Given the description of an element on the screen output the (x, y) to click on. 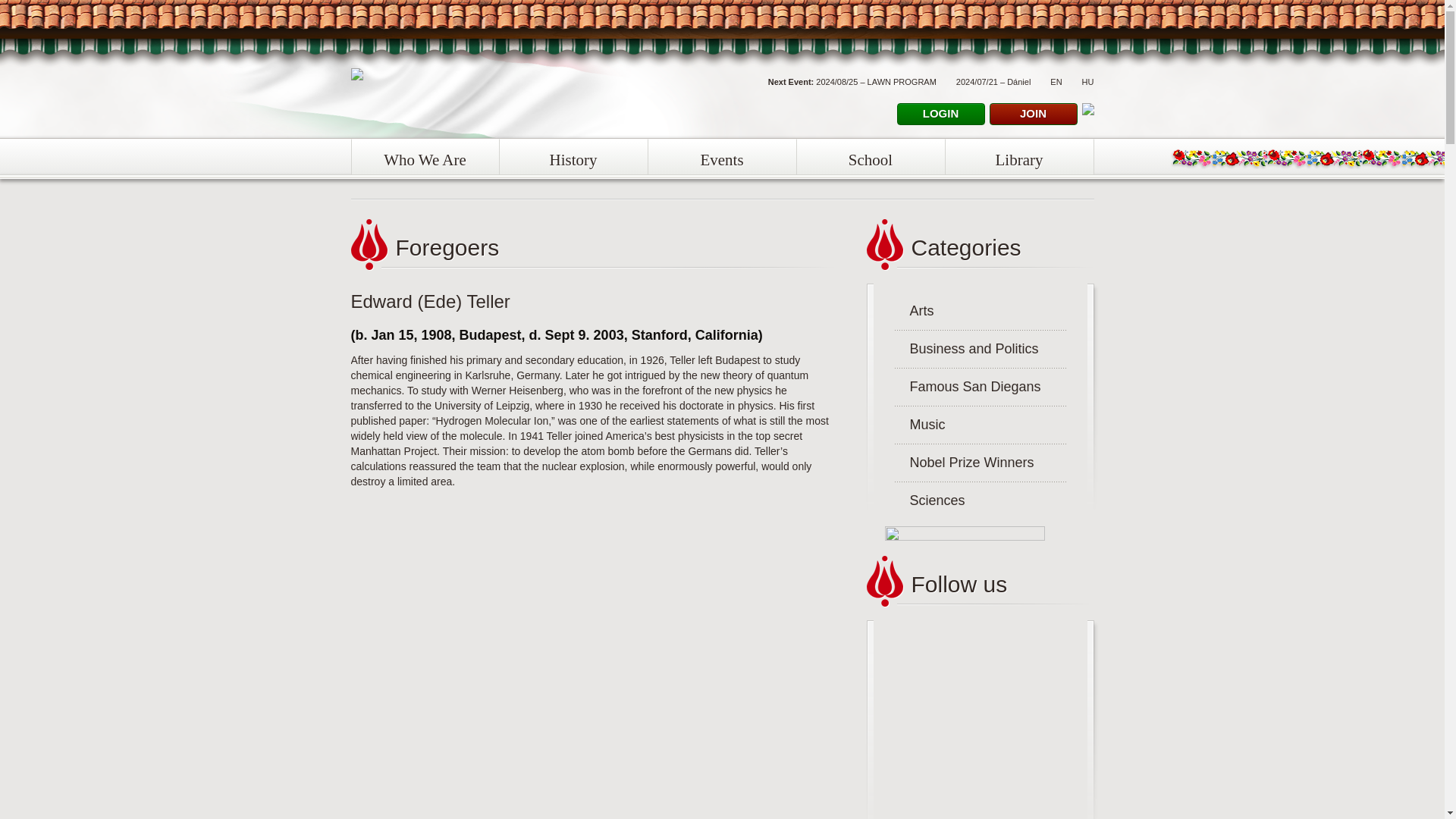
Business and Politics (967, 348)
History (572, 156)
Music (919, 424)
School (869, 156)
JOIN (1032, 114)
LOGIN (940, 114)
Famous San Diegans (968, 386)
Sciences (930, 500)
Library (1018, 156)
Arts (914, 310)
Who We Are (425, 156)
HU (1087, 81)
Events (720, 156)
EN (1055, 81)
Nobel Prize Winners (964, 462)
